Given the description of an element on the screen output the (x, y) to click on. 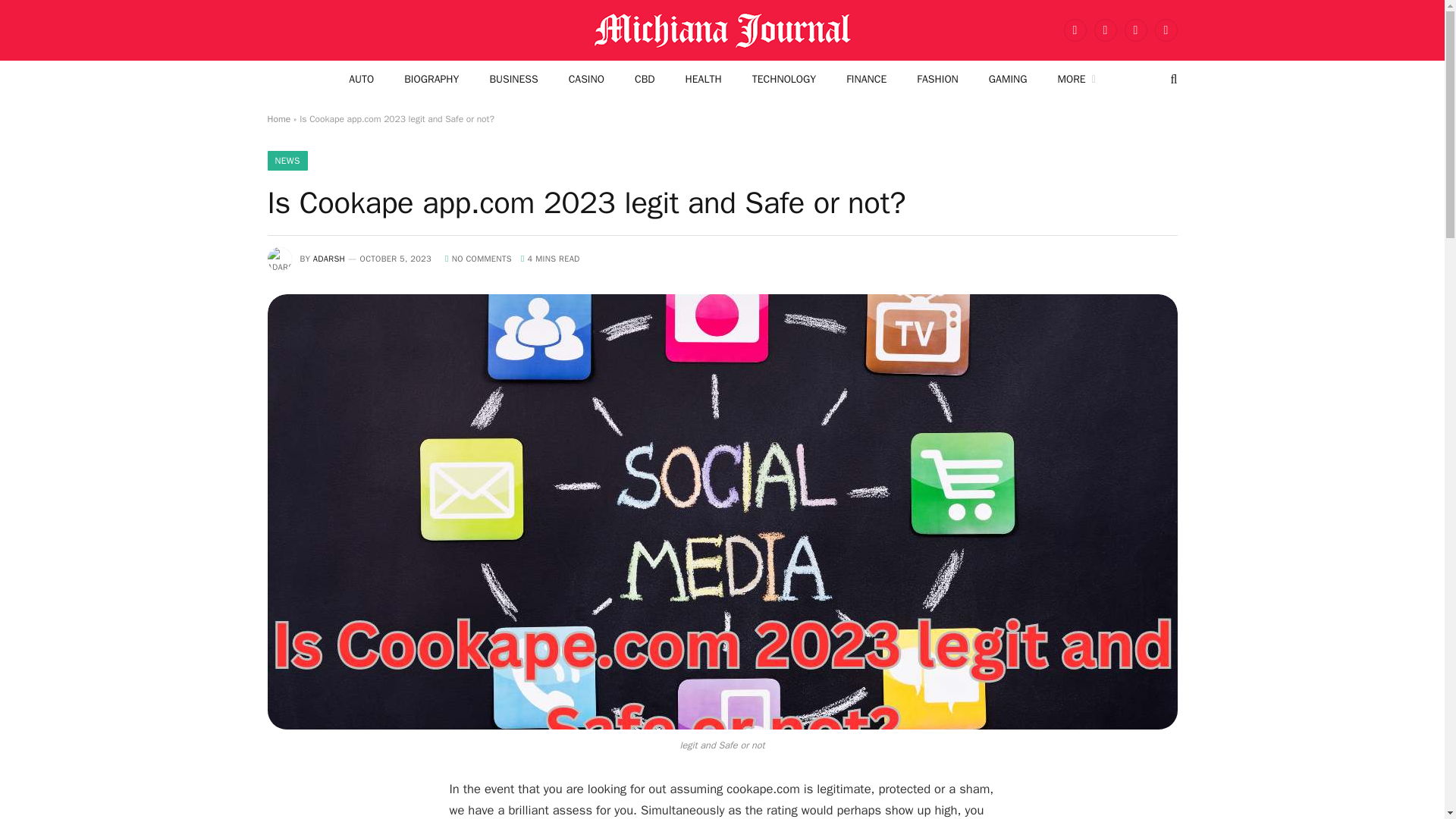
CASINO (586, 79)
GAMING (1008, 79)
HEALTH (702, 79)
Instagram (1135, 29)
CBD (644, 79)
michianajournal.com (721, 30)
NO COMMENTS (478, 258)
FINANCE (866, 79)
BIOGRAPHY (431, 79)
Facebook (1074, 29)
